Given the description of an element on the screen output the (x, y) to click on. 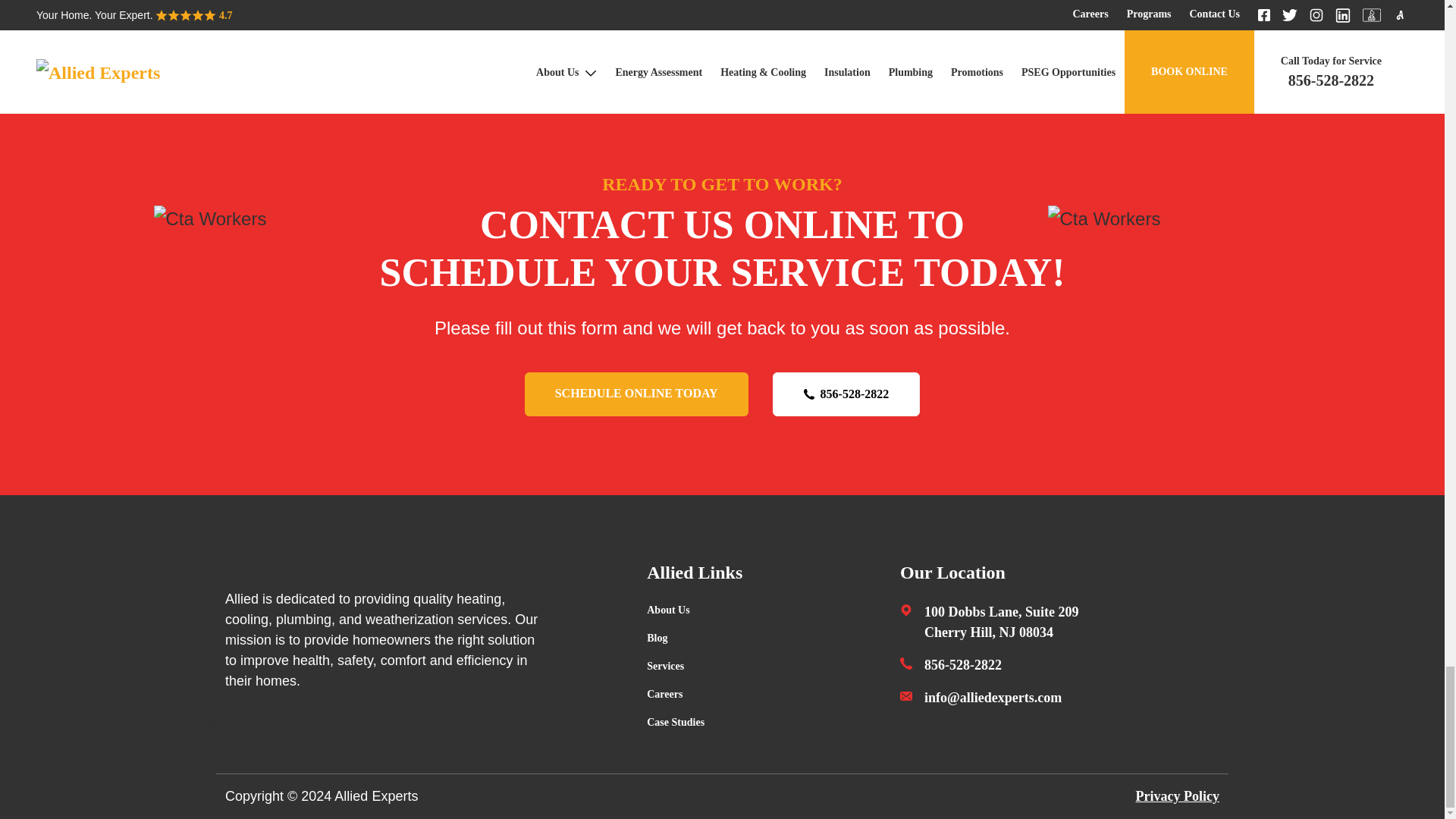
Schedule online today (636, 394)
About Us (667, 609)
Blog (656, 637)
Careers (664, 693)
856-528-2822 (846, 394)
Services (665, 666)
